Given the description of an element on the screen output the (x, y) to click on. 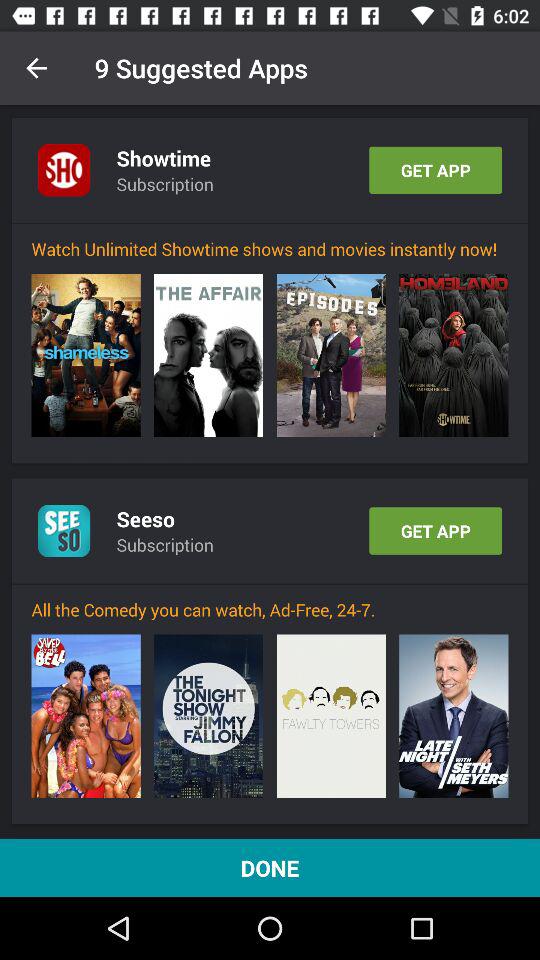
turn off icon below all the comedy item (85, 716)
